Given the description of an element on the screen output the (x, y) to click on. 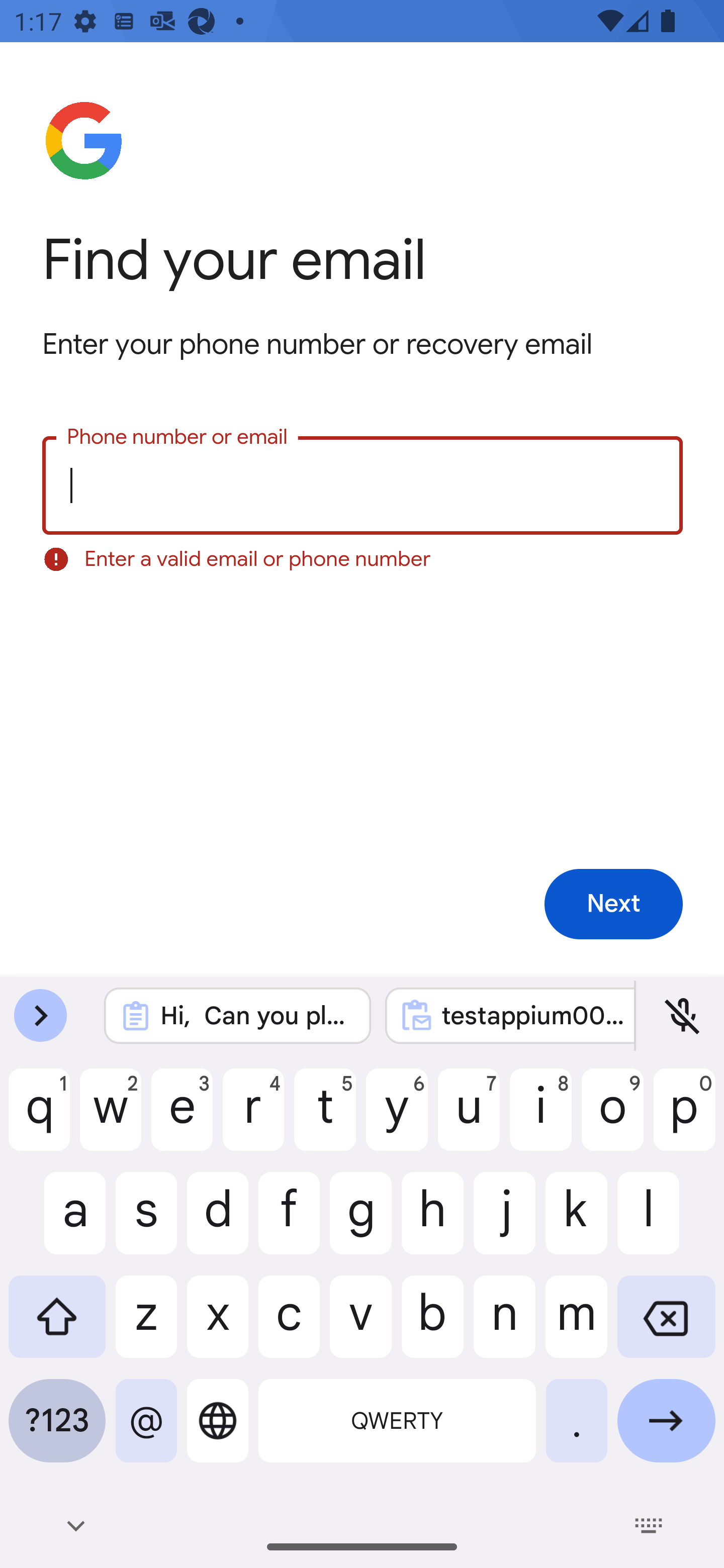
Next (613, 904)
